Given the description of an element on the screen output the (x, y) to click on. 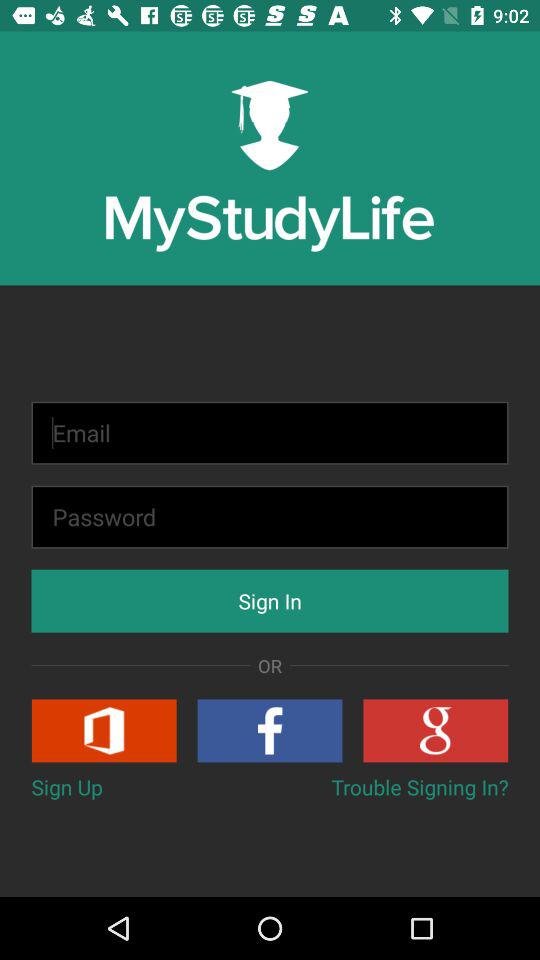
input password (269, 516)
